Given the description of an element on the screen output the (x, y) to click on. 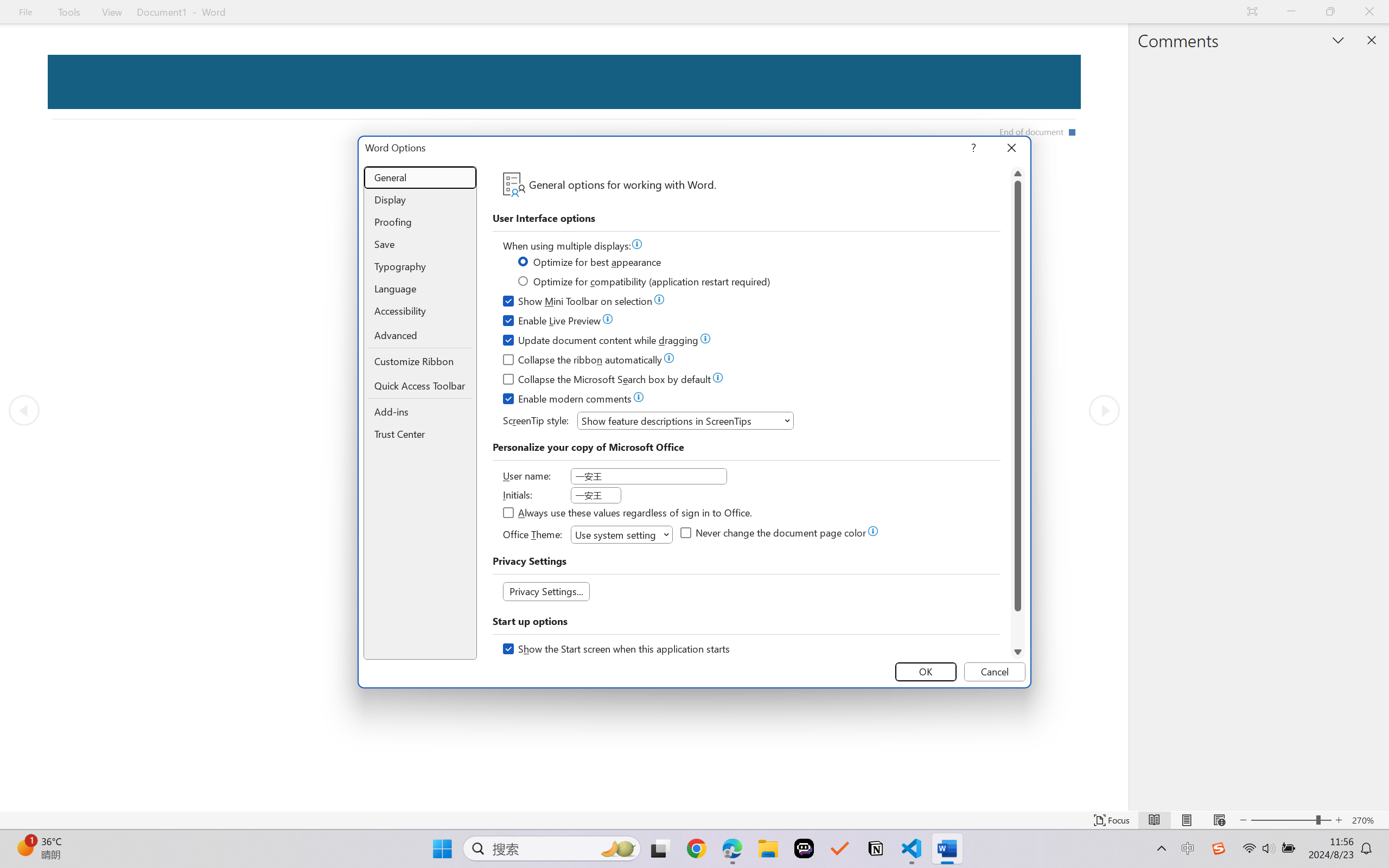
Office Theme (621, 534)
ScreenTip style (685, 420)
Collapse the ribbon automatically (582, 361)
Enable Live Preview (552, 322)
Line down (1018, 651)
Trust Center (419, 434)
Always use these values regardless of sign in to Office. (628, 514)
Show Mini Toolbar on selection (578, 302)
Advanced (419, 336)
